Given the description of an element on the screen output the (x, y) to click on. 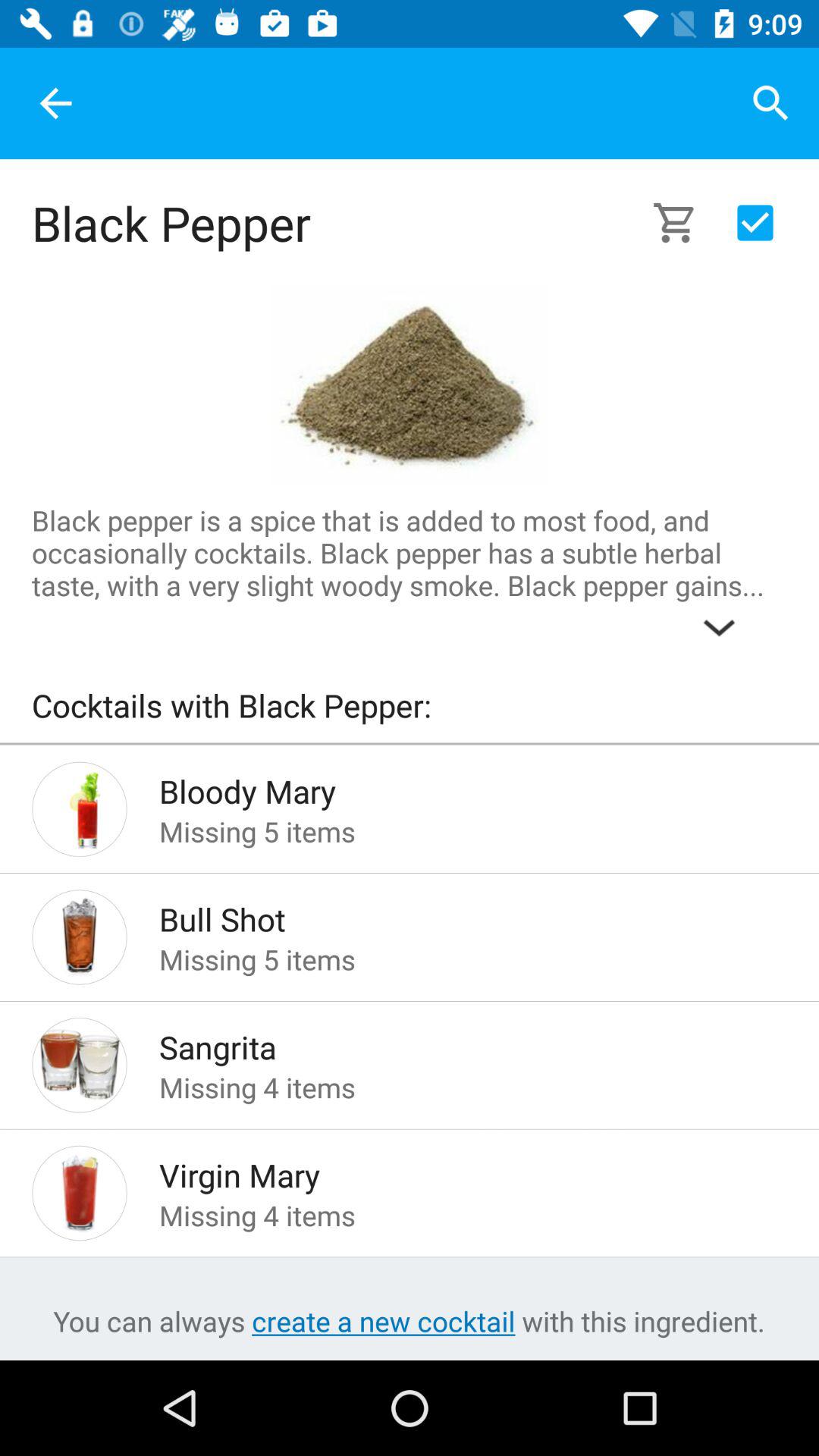
tap the bull shot icon (449, 914)
